Given the description of an element on the screen output the (x, y) to click on. 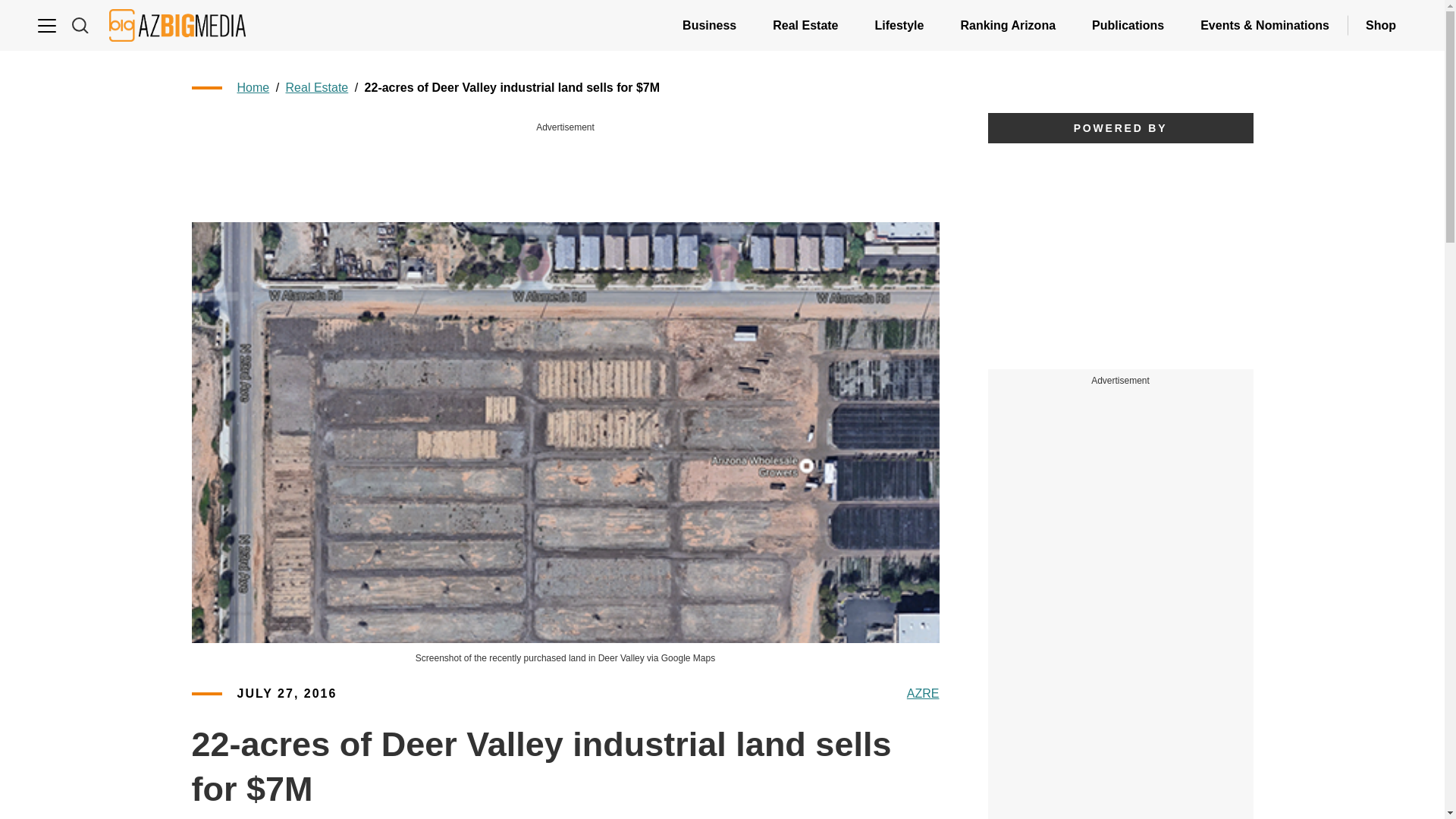
3rd party ad content (1120, 712)
3rd party ad content (1120, 504)
AZ Big Media Logo (177, 25)
Business (708, 25)
3rd party ad content (565, 169)
3rd party ad content (1119, 256)
Posts by AZRE (923, 694)
